Given the description of an element on the screen output the (x, y) to click on. 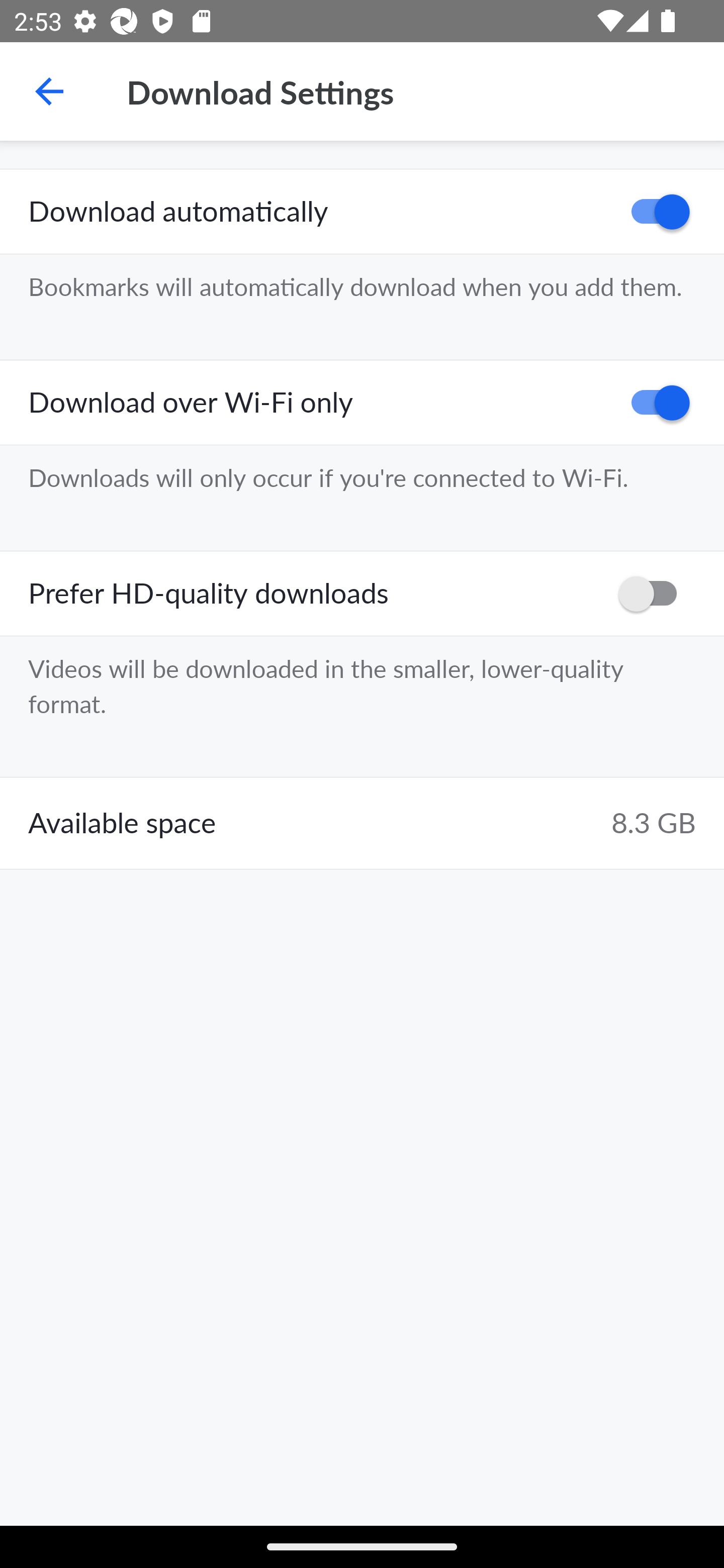
Navigate up (49, 91)
ON (653, 211)
ON (653, 402)
OFF (653, 593)
